Given the description of an element on the screen output the (x, y) to click on. 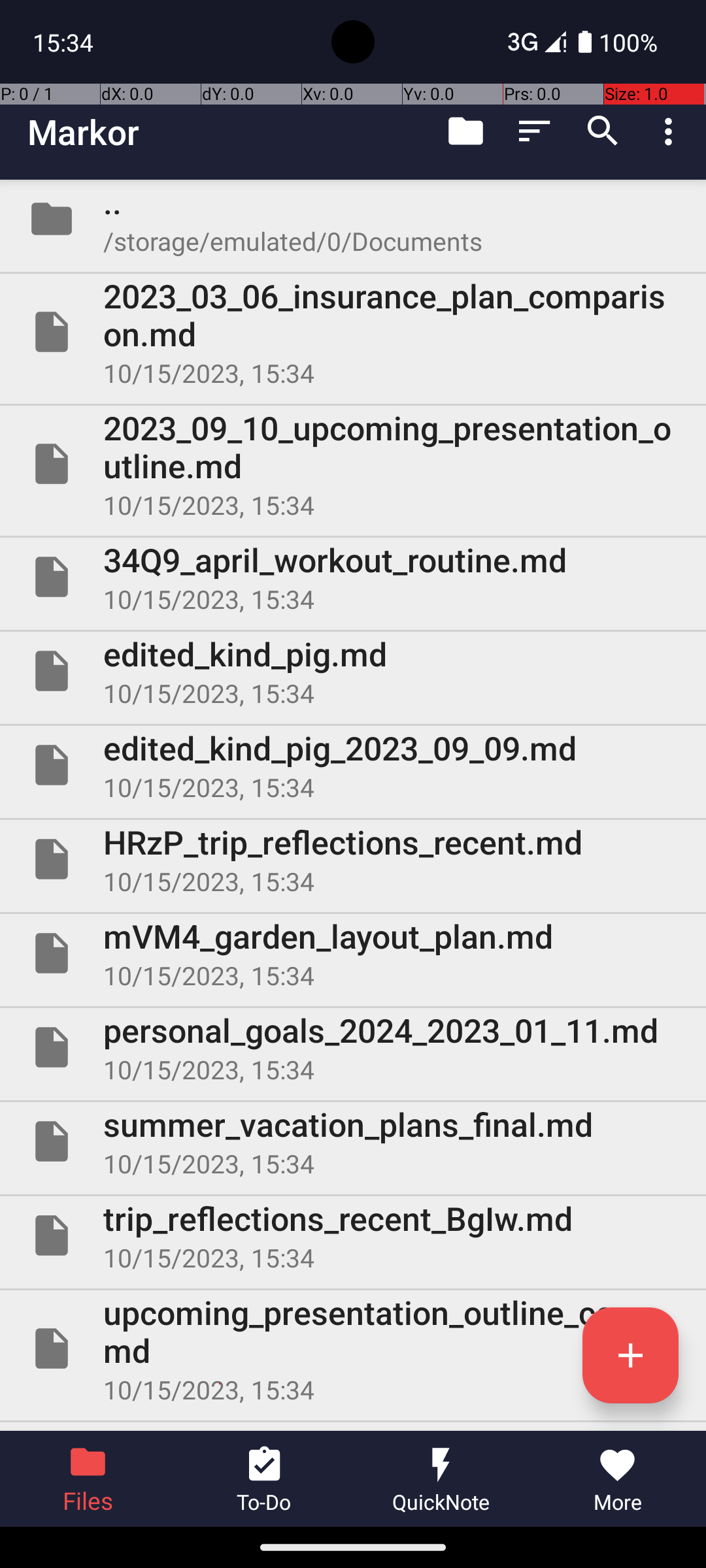
Create a new file or folder Element type: android.widget.ImageButton (630, 1355)
Markor Element type: android.widget.TextView (83, 131)
Go to Element type: android.widget.TextView (465, 131)
Sort by Element type: android.widget.TextView (534, 131)
To-Do Element type: android.widget.FrameLayout (264, 1478)
QuickNote Element type: android.widget.FrameLayout (441, 1478)
More Element type: android.widget.FrameLayout (617, 1478)
Folder ..  Element type: android.widget.LinearLayout (353, 218)
File 2023_03_06_insurance_plan_comparison.md  Element type: android.widget.LinearLayout (353, 331)
File 2023_09_10_upcoming_presentation_outline.md  Element type: android.widget.LinearLayout (353, 463)
File 34Q9_april_workout_routine.md  Element type: android.widget.LinearLayout (353, 576)
File edited_kind_pig.md  Element type: android.widget.LinearLayout (353, 670)
File edited_kind_pig_2023_09_09.md  Element type: android.widget.LinearLayout (353, 764)
File HRzP_trip_reflections_recent.md  Element type: android.widget.LinearLayout (353, 858)
File mVM4_garden_layout_plan.md  Element type: android.widget.LinearLayout (353, 953)
File personal_goals_2024_2023_01_11.md  Element type: android.widget.LinearLayout (353, 1047)
File summer_vacation_plans_final.md  Element type: android.widget.LinearLayout (353, 1141)
File trip_reflections_recent_BgIw.md  Element type: android.widget.LinearLayout (353, 1235)
File upcoming_presentation_outline_copy.md  Element type: android.widget.LinearLayout (353, 1348)
